Given the description of an element on the screen output the (x, y) to click on. 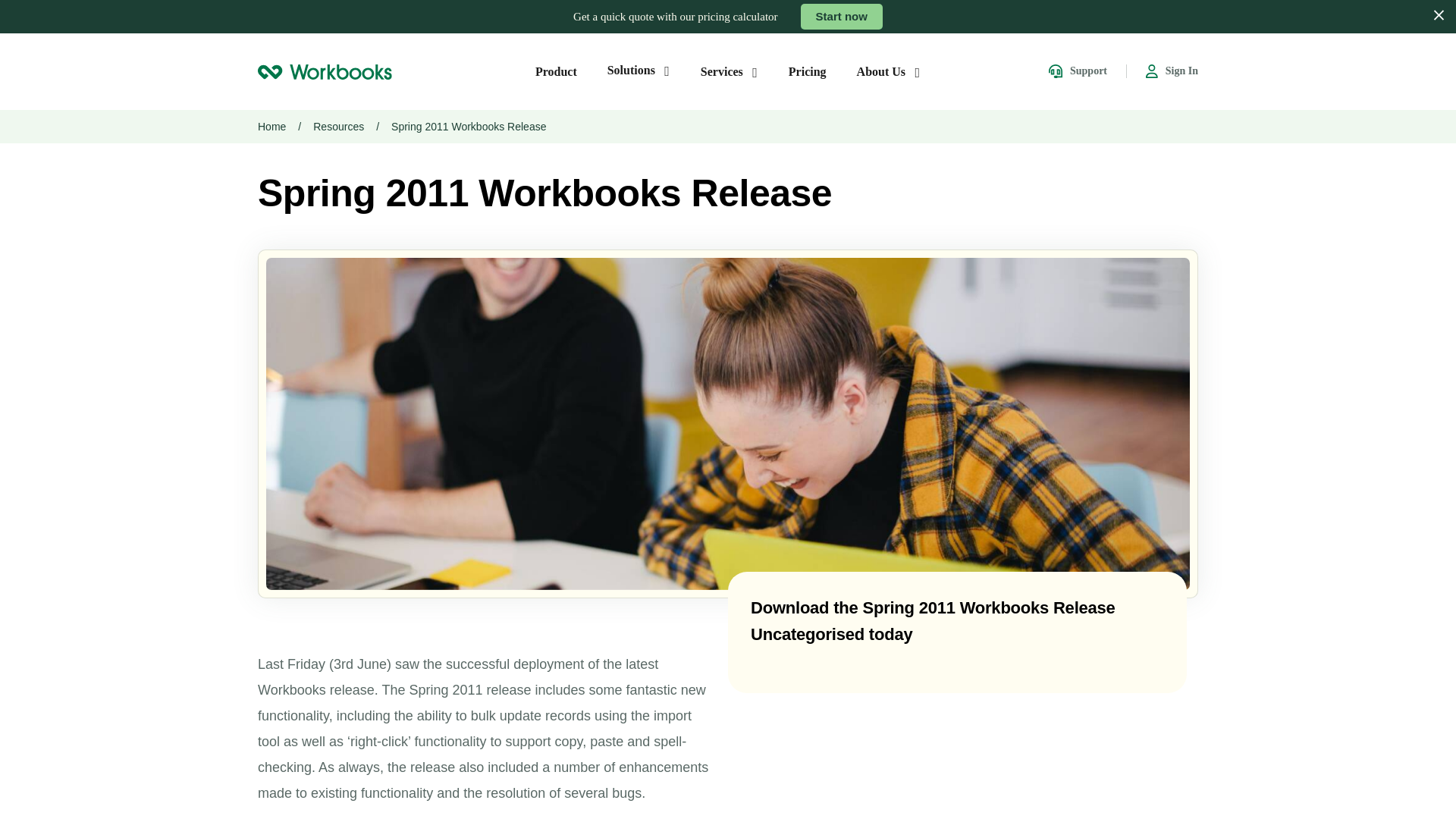
Solutions (638, 69)
Product (555, 71)
Start now (841, 16)
Pricing (808, 71)
Support (1077, 70)
Services (729, 71)
Sign In (1171, 70)
About Us (888, 71)
